Given the description of an element on the screen output the (x, y) to click on. 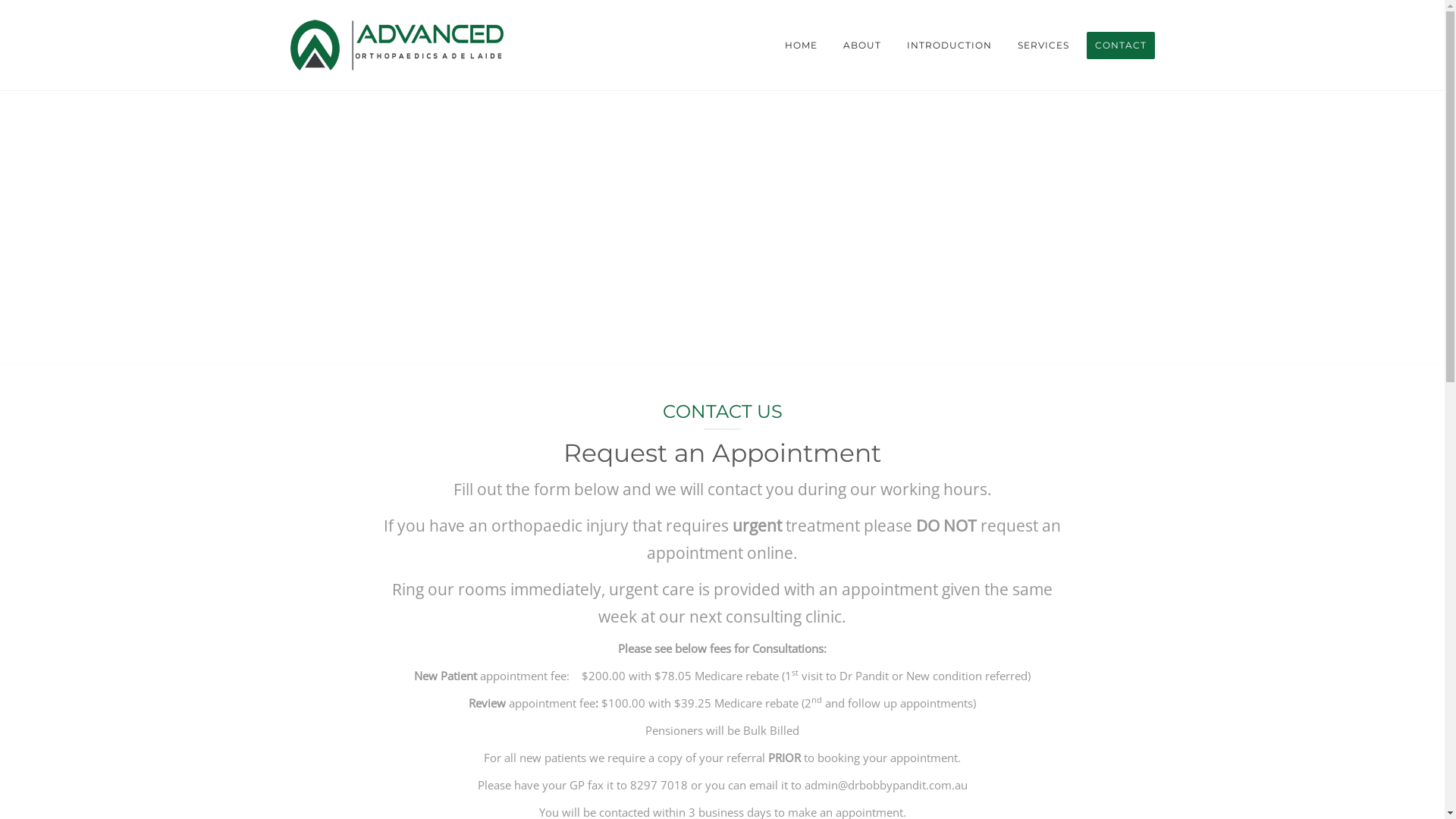
HOME Element type: text (721, 572)
ABOUT Element type: text (721, 608)
SERVICES Element type: text (721, 681)
INTRODUCTION Element type: text (948, 45)
CONTACT Element type: text (1119, 45)
CONTACT Element type: text (721, 717)
ABOUT Element type: text (861, 45)
HOME Element type: text (800, 45)
SERVICES Element type: text (1042, 45)
INTRODUCTION Element type: text (721, 645)
